Given the description of an element on the screen output the (x, y) to click on. 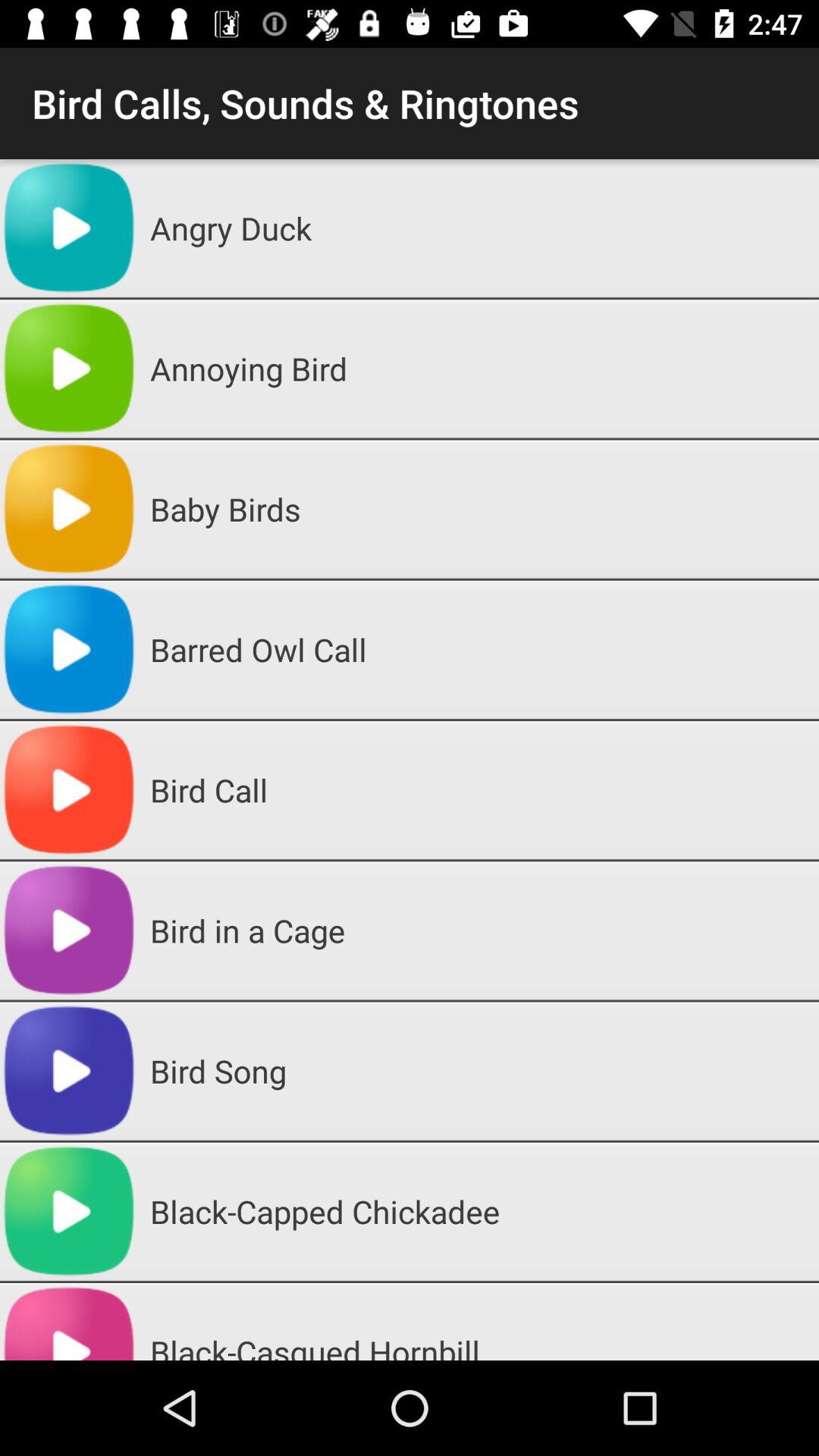
scroll to bird call item (478, 790)
